Given the description of an element on the screen output the (x, y) to click on. 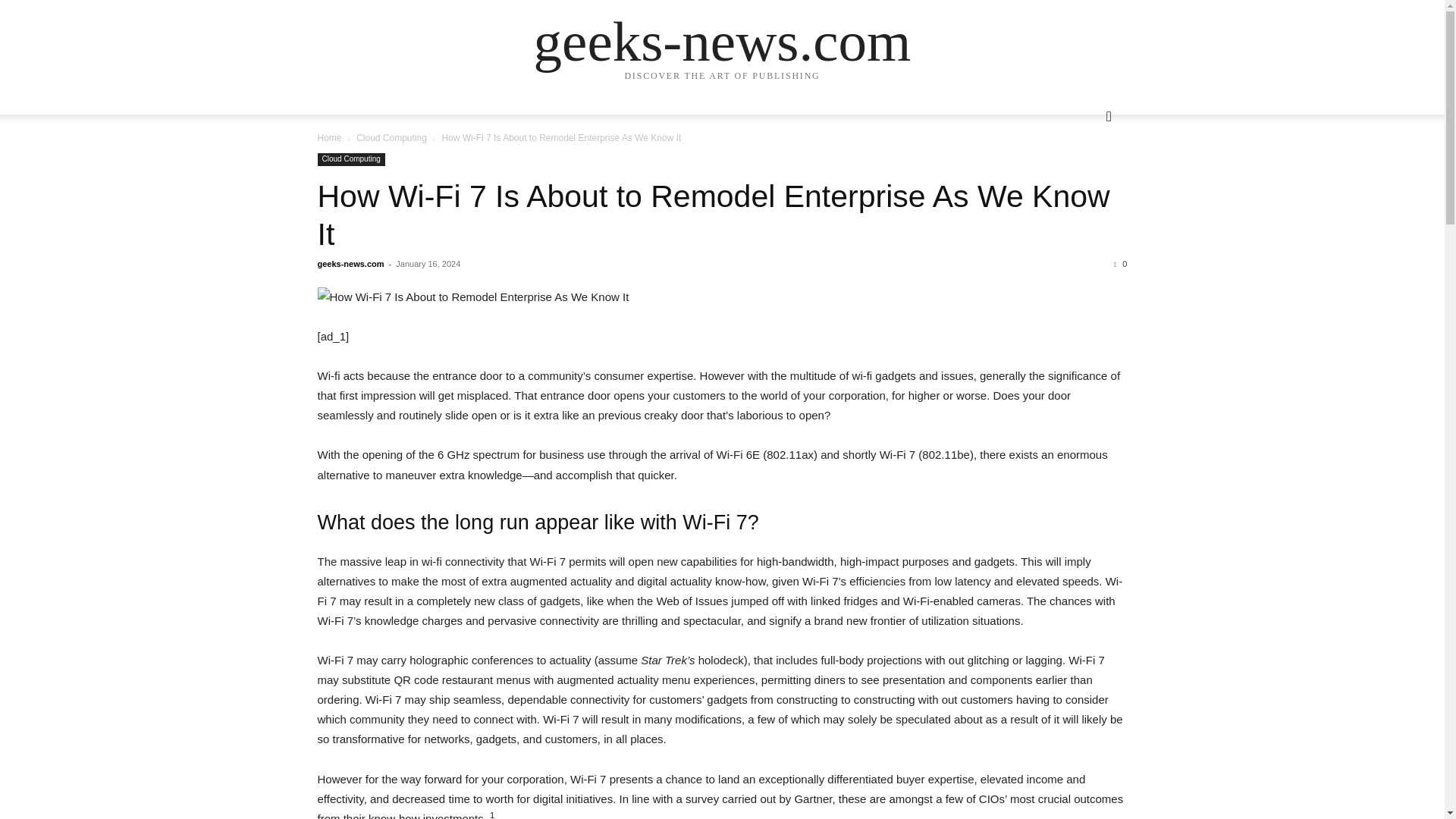
0 (1119, 263)
Search (1085, 177)
View all posts in Cloud Computing (391, 137)
How Wi-Fi 7 Is About to Remodel Enterprise As We Know It (721, 297)
How Wi-Fi 7 Is About to Remodel Enterprise As We Know It (713, 215)
Home (328, 137)
How Wi-Fi 7 Is About to Remodel Enterprise As We Know It (713, 215)
Cloud Computing (391, 137)
geeks-news.com (350, 263)
geeks-news.com (722, 41)
Cloud Computing (350, 159)
